Given the description of an element on the screen output the (x, y) to click on. 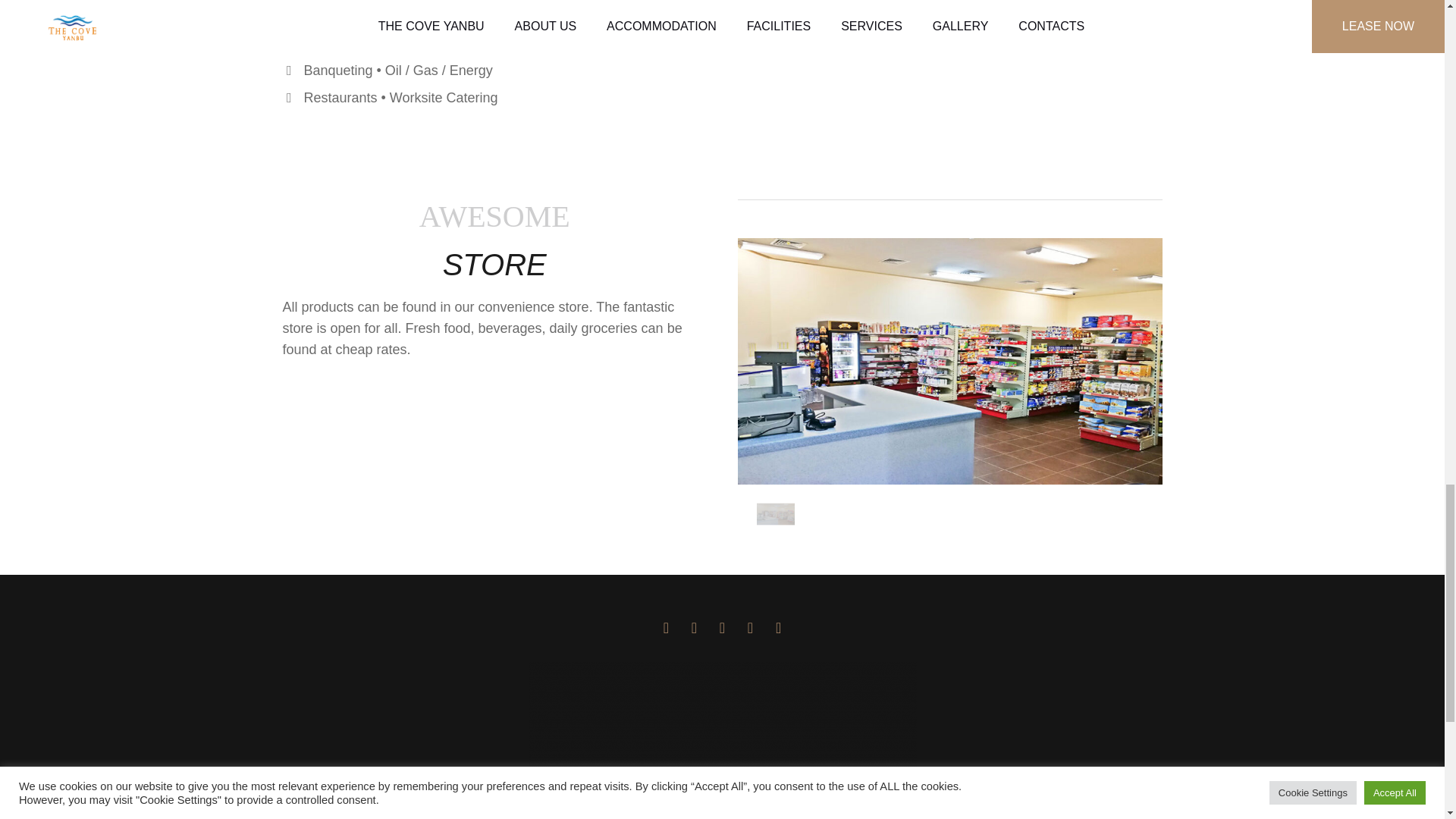
Youtube (778, 627)
Instagram (722, 627)
Food and Beverages 4 (949, 361)
Facebook (693, 627)
Linkedin (665, 627)
The Cove Yanbu (721, 740)
Twitter (750, 627)
